Given the description of an element on the screen output the (x, y) to click on. 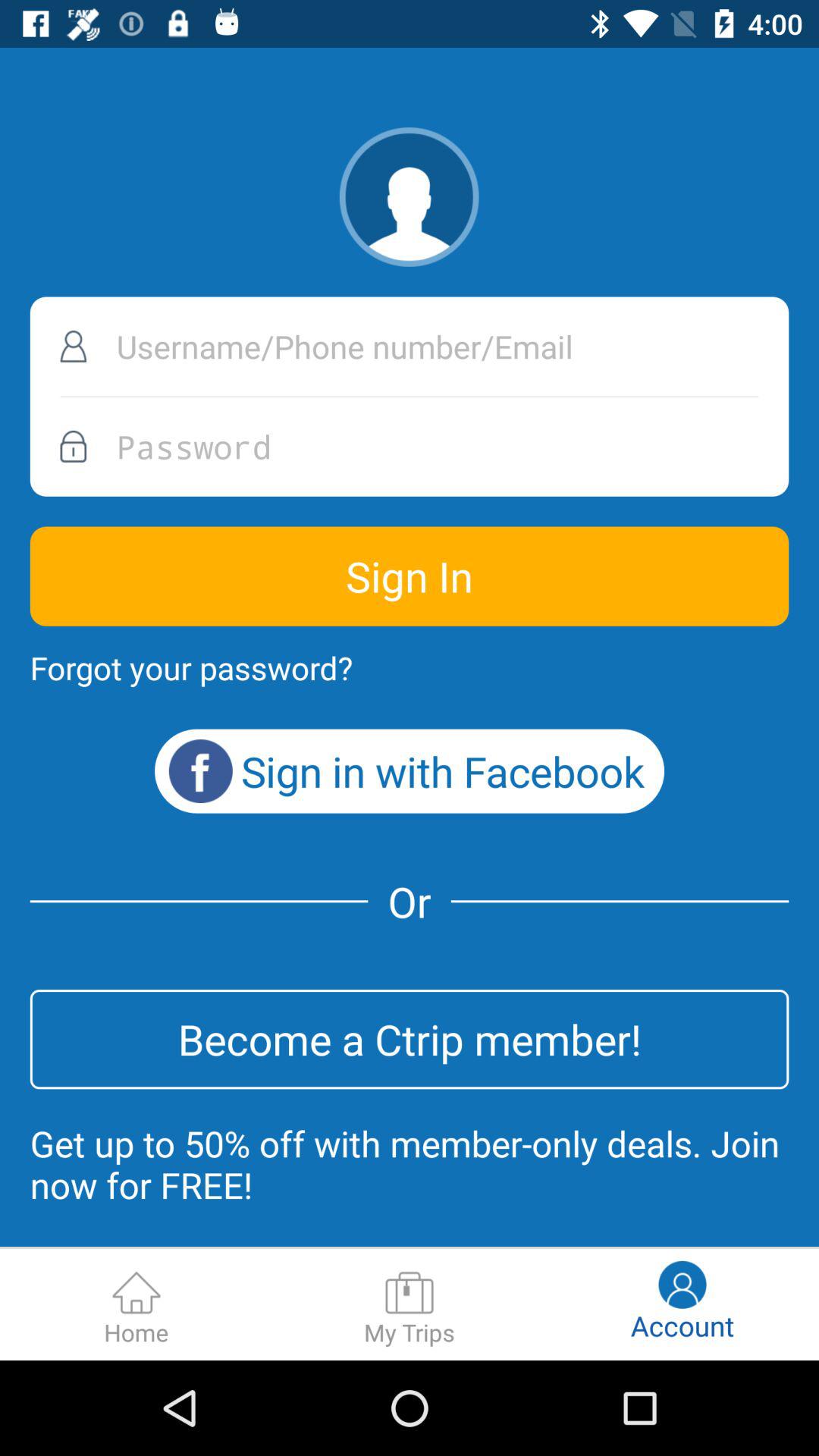
turn on the icon above the get up to item (409, 1039)
